Given the description of an element on the screen output the (x, y) to click on. 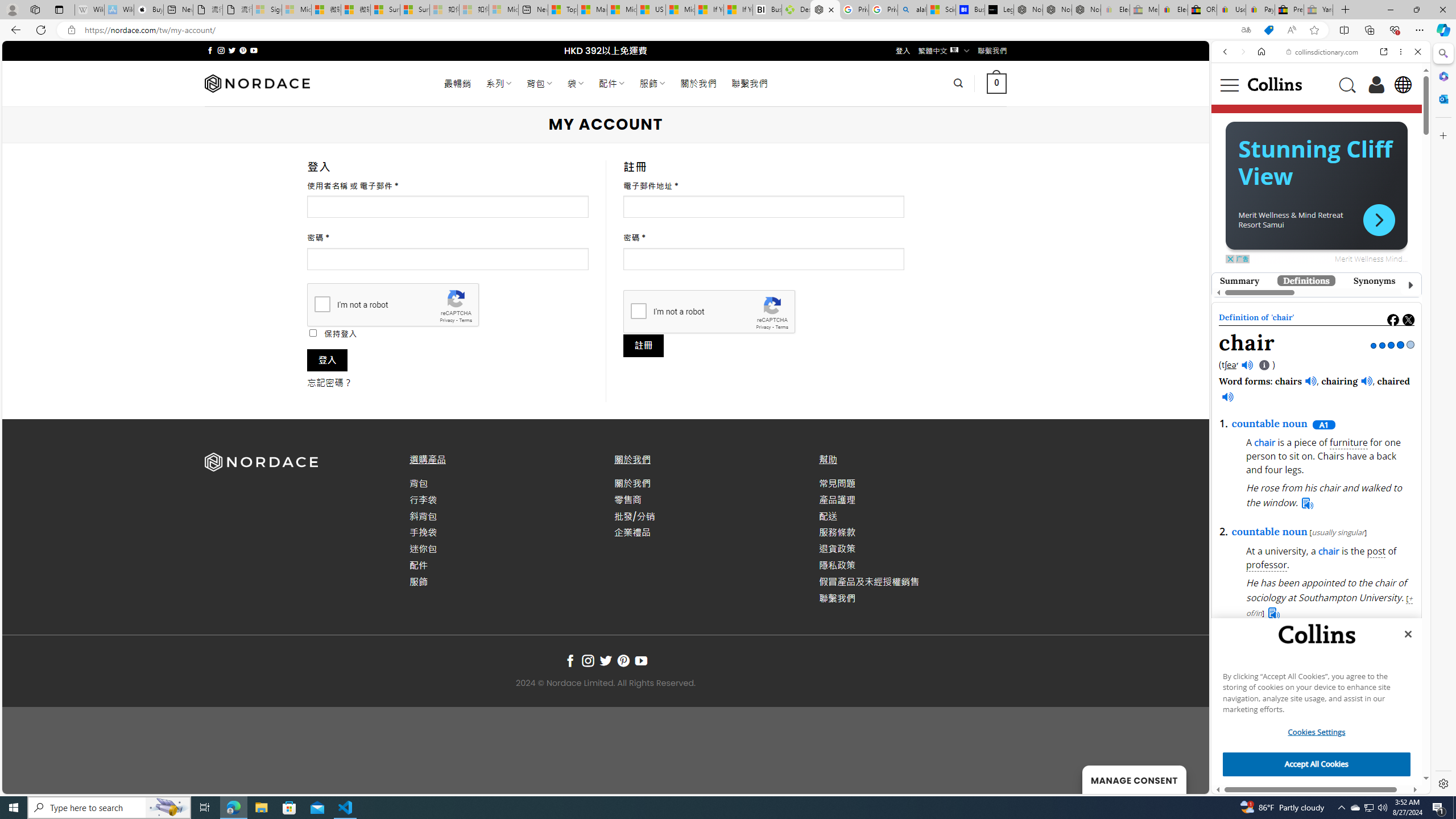
IPA Pronunciation Guide (1264, 365)
collinsdictionary.com (1323, 51)
Share this page on Facebook (1393, 319)
Stunning Cliff View (1312, 401)
Summary (1239, 280)
Descarga Driver Updater (796, 9)
